Given the description of an element on the screen output the (x, y) to click on. 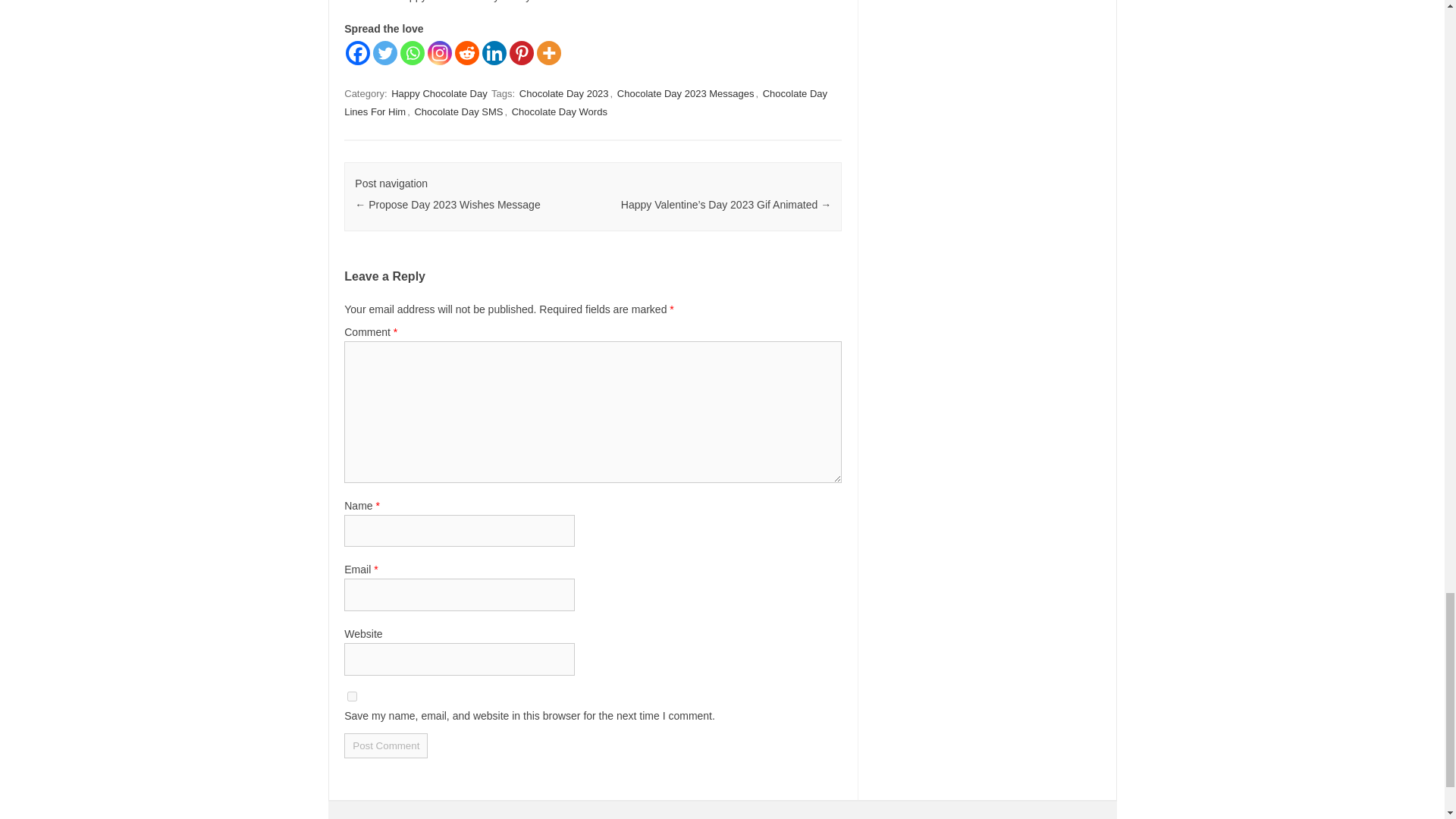
Whatsapp (412, 52)
Chocolate Day SMS (457, 111)
Facebook (357, 52)
Chocolate Day 2023 Messages (685, 93)
Chocolate Day Words (559, 111)
Pinterest (521, 52)
Reddit (466, 52)
Twitter (384, 52)
yes (351, 696)
Chocolate Day 2023 (564, 93)
Happy Chocolate Day (438, 93)
Instagram (439, 52)
Post Comment (385, 745)
Linkedin (493, 52)
Chocolate Day Lines For Him (585, 102)
